Given the description of an element on the screen output the (x, y) to click on. 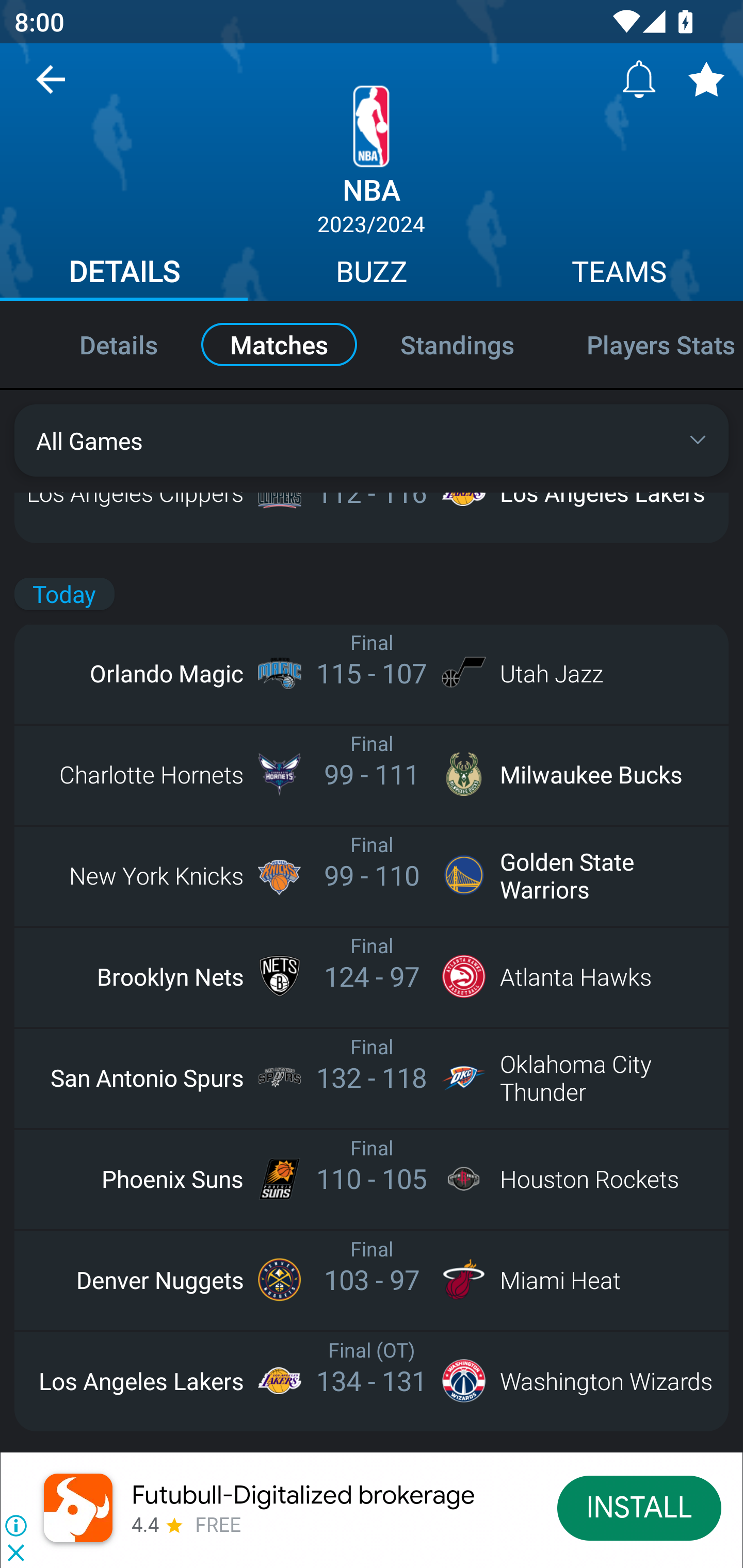
Navigate up (50, 86)
DETAILS (123, 274)
BUZZ (371, 274)
TEAMS (619, 274)
Details (96, 344)
Standings (457, 344)
Players Stats (646, 344)
All Games (371, 440)
Orlando Magic Final 115 - 107 Utah Jazz (371, 673)
Charlotte Hornets Final 99 - 111 Milwaukee Bucks (371, 774)
Brooklyn Nets Final 124 - 97 Atlanta Hawks (371, 976)
Phoenix Suns Final 110 - 105 Houston Rockets (371, 1178)
Denver Nuggets Final 103 - 97 Miami Heat (371, 1279)
INSTALL (639, 1507)
Futubull-Digitalized brokerage (302, 1494)
